Given the description of an element on the screen output the (x, y) to click on. 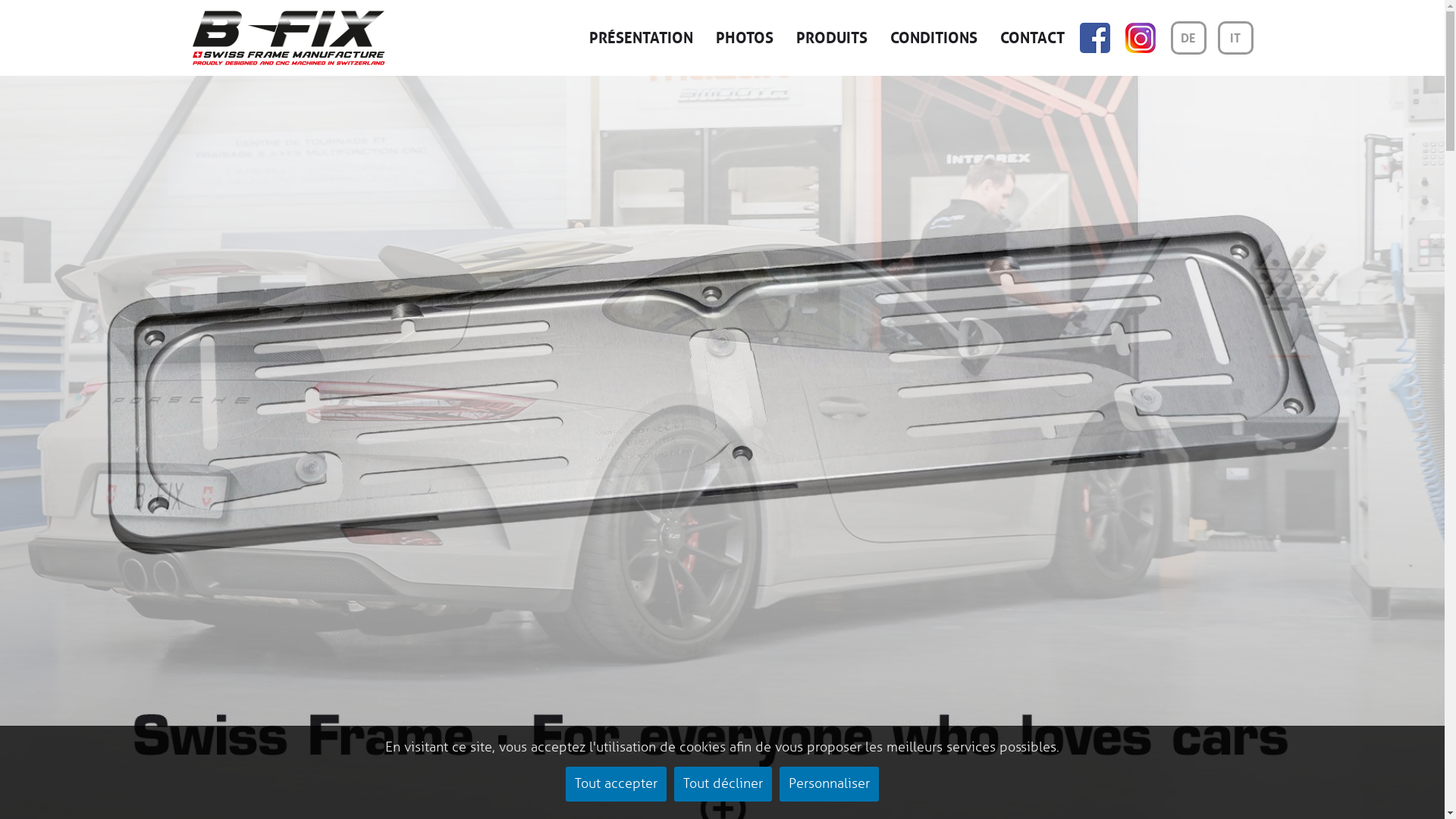
Personnaliser Element type: text (828, 783)
CONTACT Element type: text (1031, 37)
Tout accepter Element type: text (615, 783)
PHOTOS Element type: text (744, 37)
IT Element type: text (1235, 37)
CONDITIONS Element type: text (933, 37)
PRODUITS Element type: text (831, 37)
DE Element type: text (1188, 37)
